Given the description of an element on the screen output the (x, y) to click on. 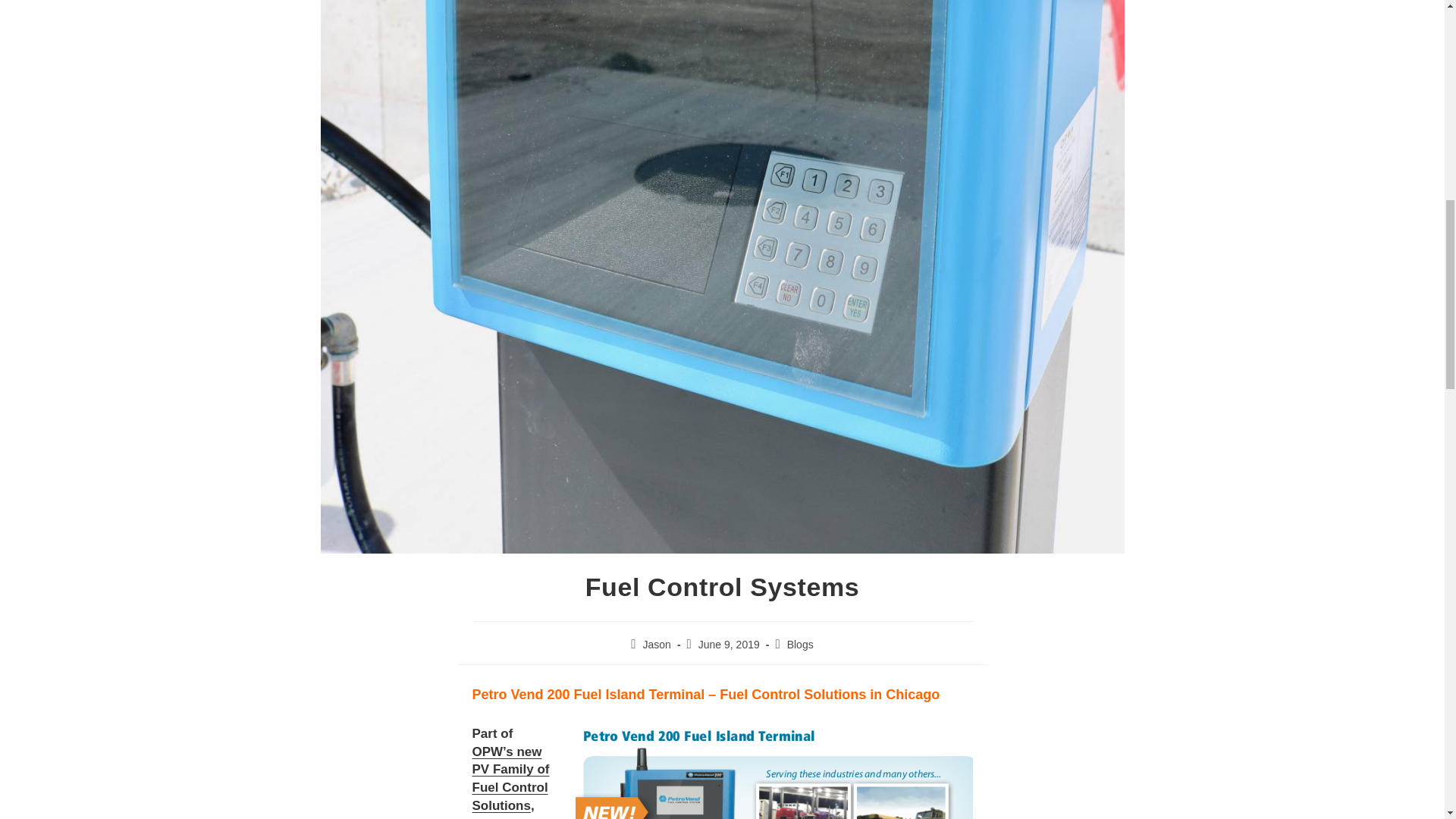
Posts by Jason (657, 644)
Jason (657, 644)
Blogs (800, 644)
